Given the description of an element on the screen output the (x, y) to click on. 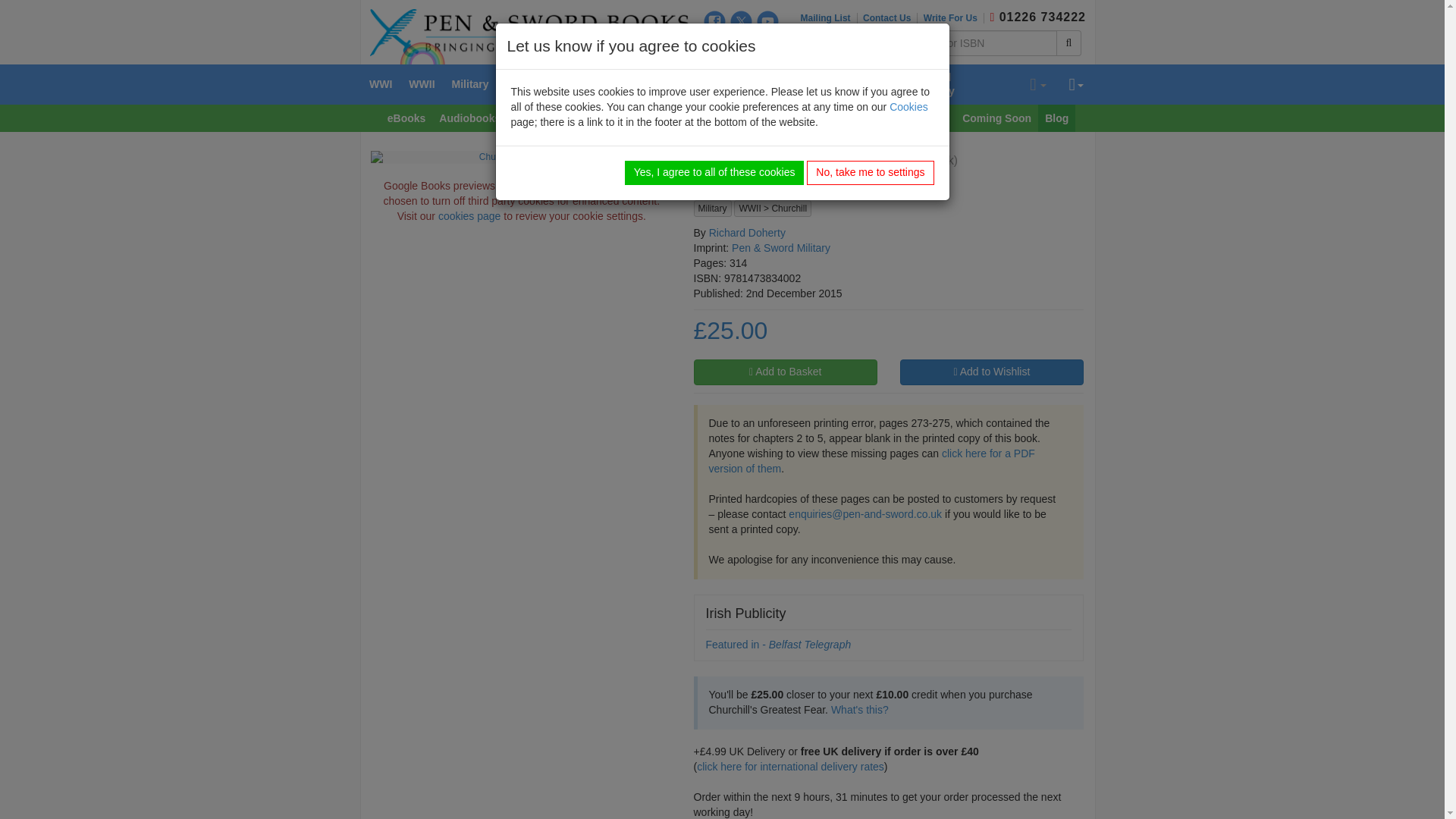
NetGalley (767, 45)
Mailing List (828, 18)
TikTok (741, 45)
X (741, 21)
Belfast Telegraph  (734, 644)
Contact Us (890, 18)
Facebook (714, 21)
Belfast Telegraph  (807, 644)
YouTube (767, 21)
Instagram (714, 45)
Write For Us (953, 18)
Your basket is empty (1037, 84)
